Given the description of an element on the screen output the (x, y) to click on. 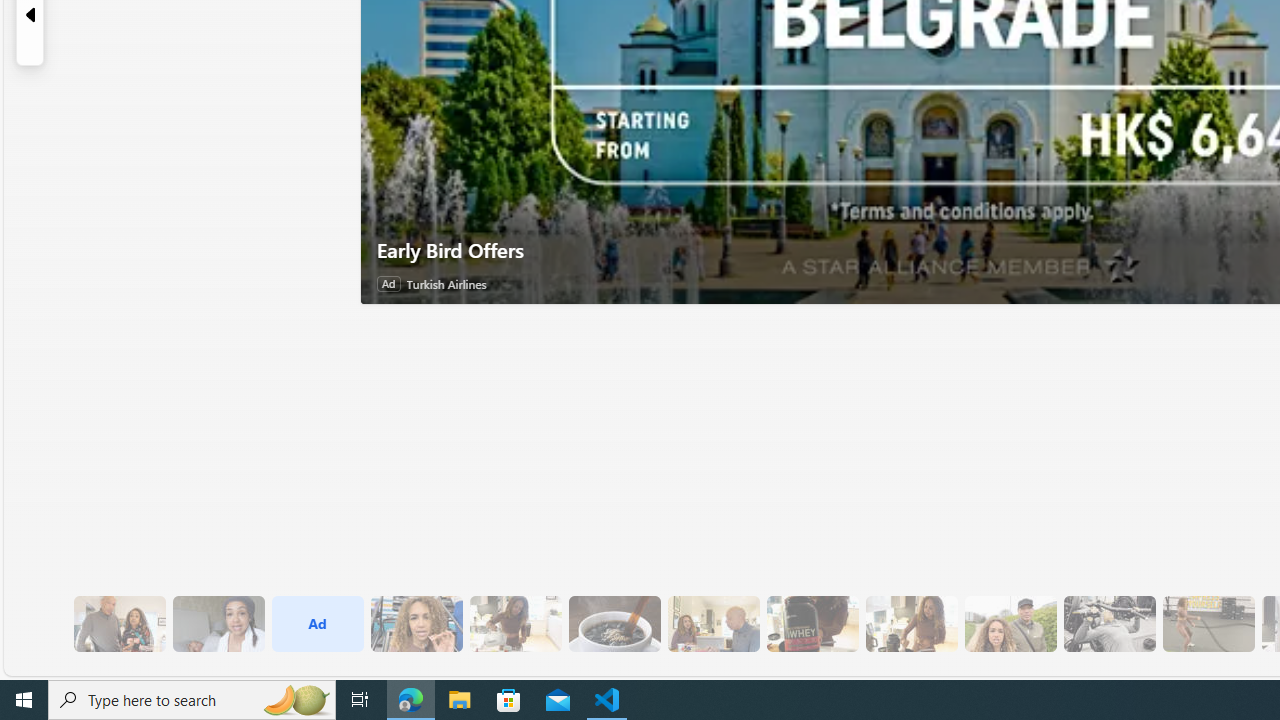
7 They Don't Skip Meals (911, 624)
2 They Use Protein Powder for Flavor (416, 624)
Turkish Airlines (445, 283)
8 They Walk to the Gym (1010, 624)
5 She Eats Less Than Her Husband (713, 624)
1 We Eat a Protein-Packed Pre-Workout Snack (217, 624)
3 They Drink Lemon Tea (514, 624)
8 Be Mindful of Coffee (614, 624)
5 She Eats Less Than Her Husband (713, 624)
10 Then, They Do HIIT Cardio (1208, 624)
9 They Do Bench Exercises (1108, 624)
9 They Do Bench Exercises (1108, 624)
6 Since Eating More Protein Her Training Has Improved (811, 624)
